Given the description of an element on the screen output the (x, y) to click on. 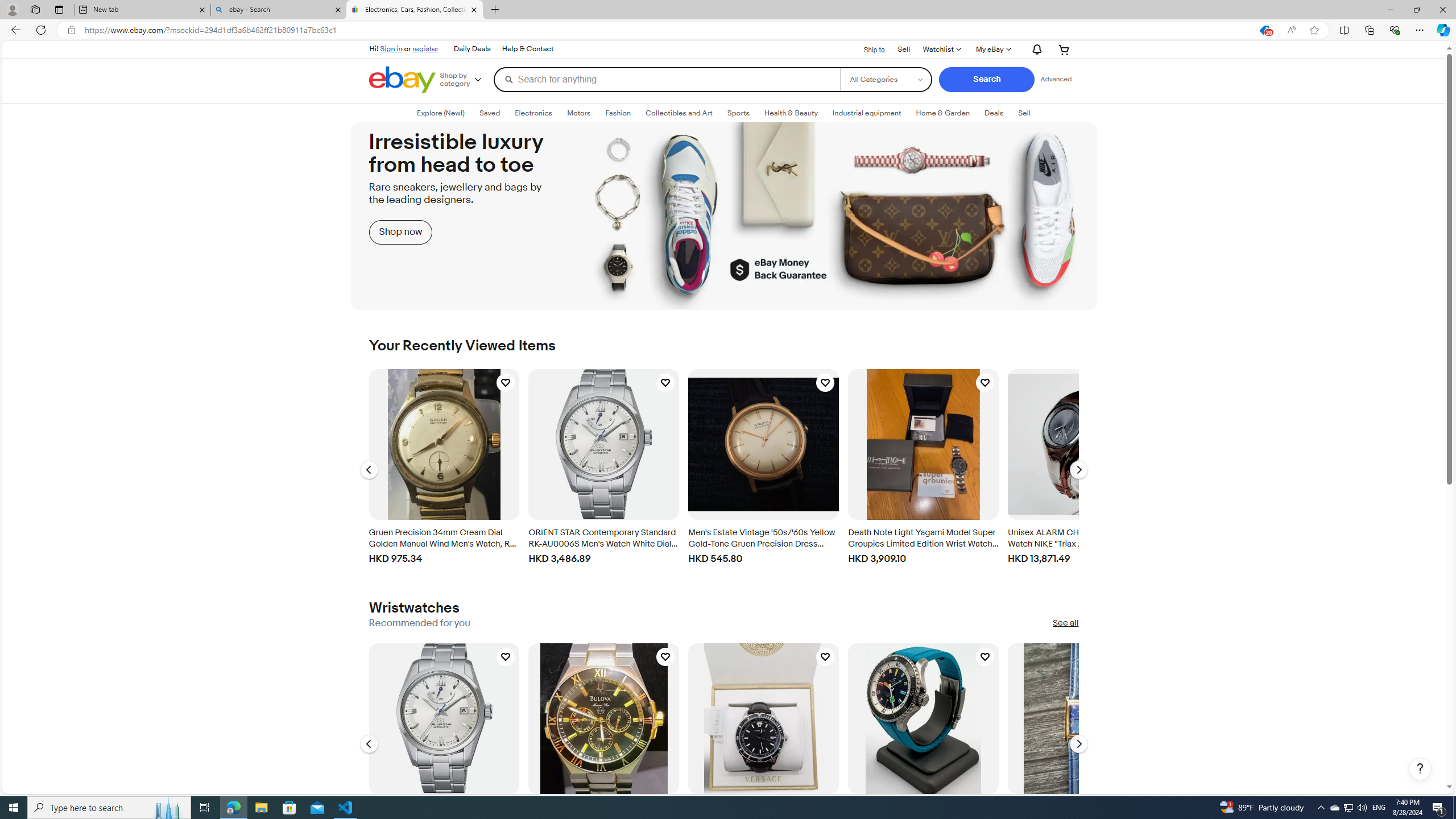
ebay - Search (277, 9)
